Given the description of an element on the screen output the (x, y) to click on. 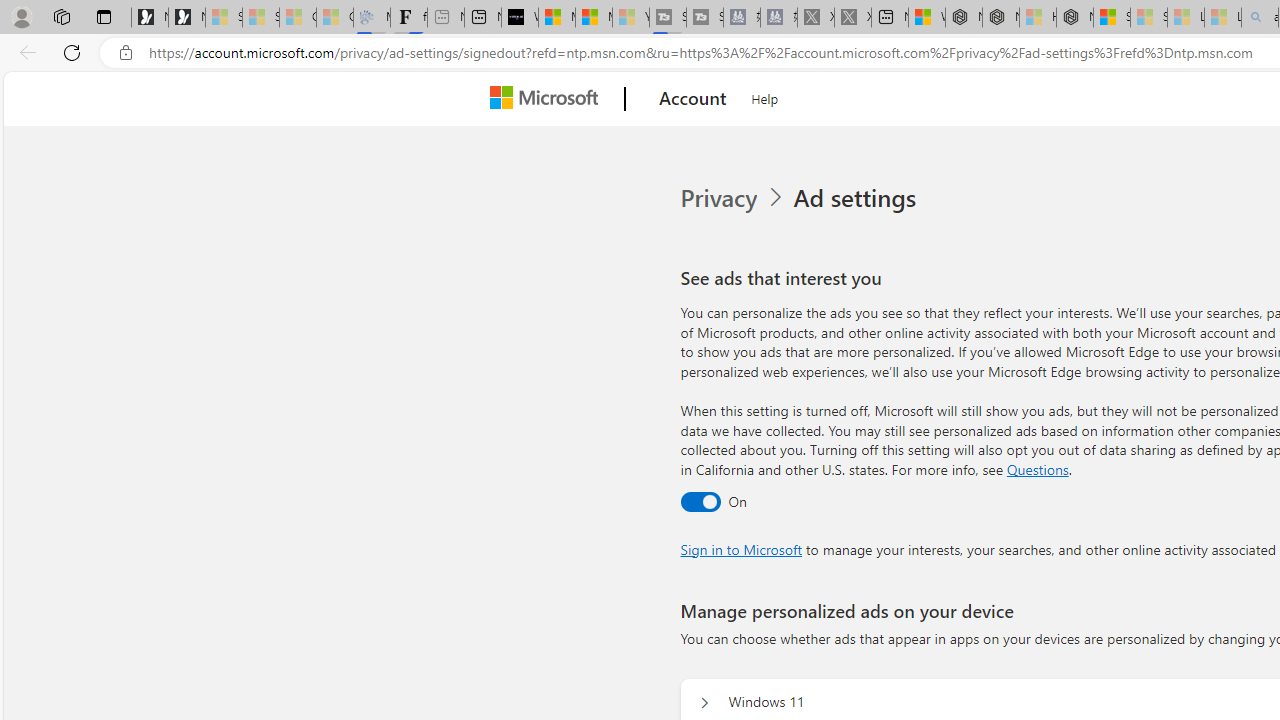
Help (765, 96)
Go to Questions section (1037, 468)
Privacy (734, 197)
Help (765, 96)
Ad settings (858, 197)
Privacy (720, 197)
